Given the description of an element on the screen output the (x, y) to click on. 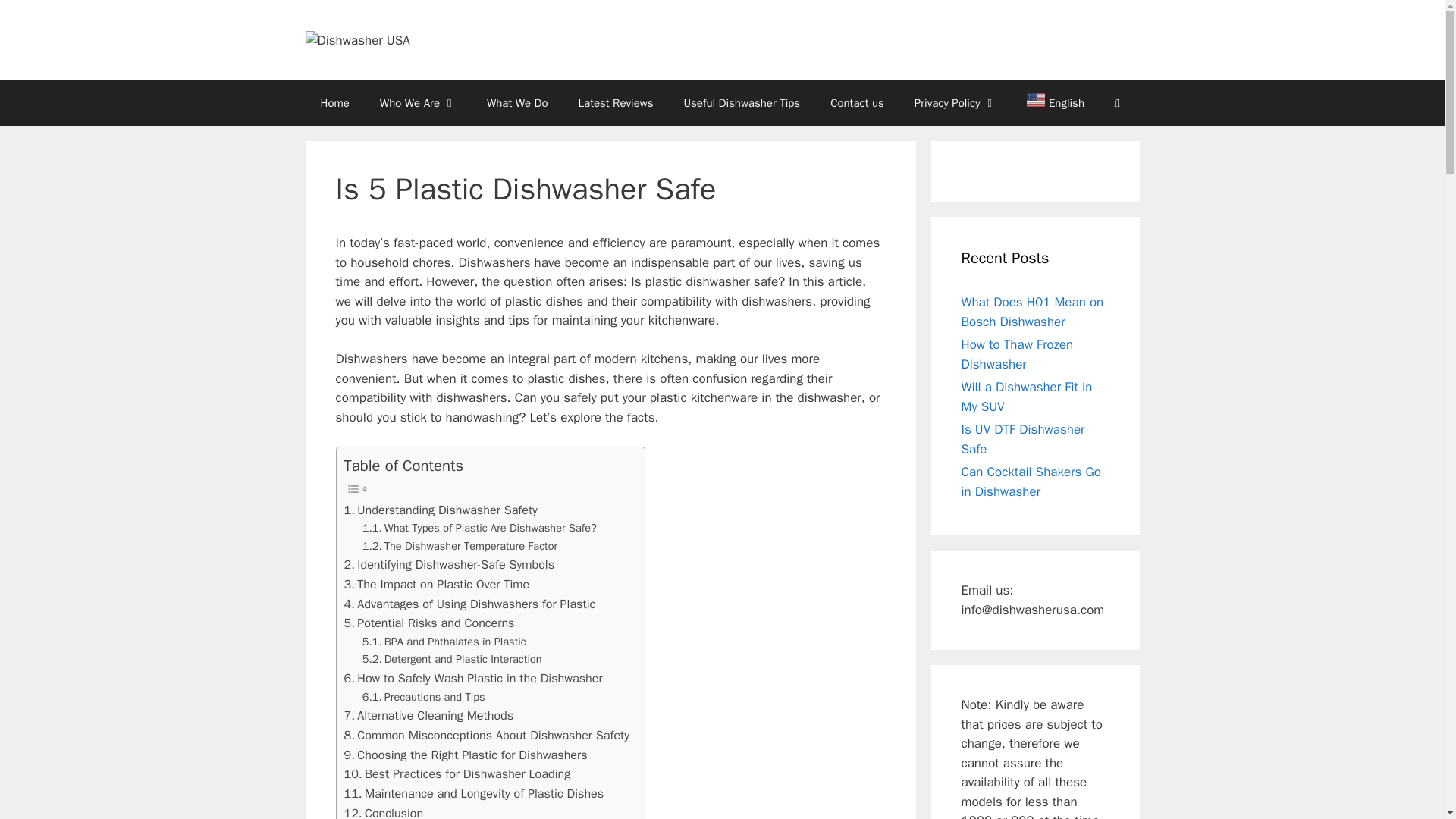
Potential Risks and Concerns (429, 623)
Detergent and Plastic Interaction (451, 659)
Home (334, 103)
Choosing the Right Plastic for Dishwashers (465, 754)
What Types of Plastic Are Dishwasher Safe? (479, 528)
Who We Are (418, 103)
Maintenance and Longevity of Plastic Dishes (473, 793)
Identifying Dishwasher-Safe Symbols (448, 564)
Conclusion (383, 811)
BPA and Phthalates in Plastic (443, 641)
